Given the description of an element on the screen output the (x, y) to click on. 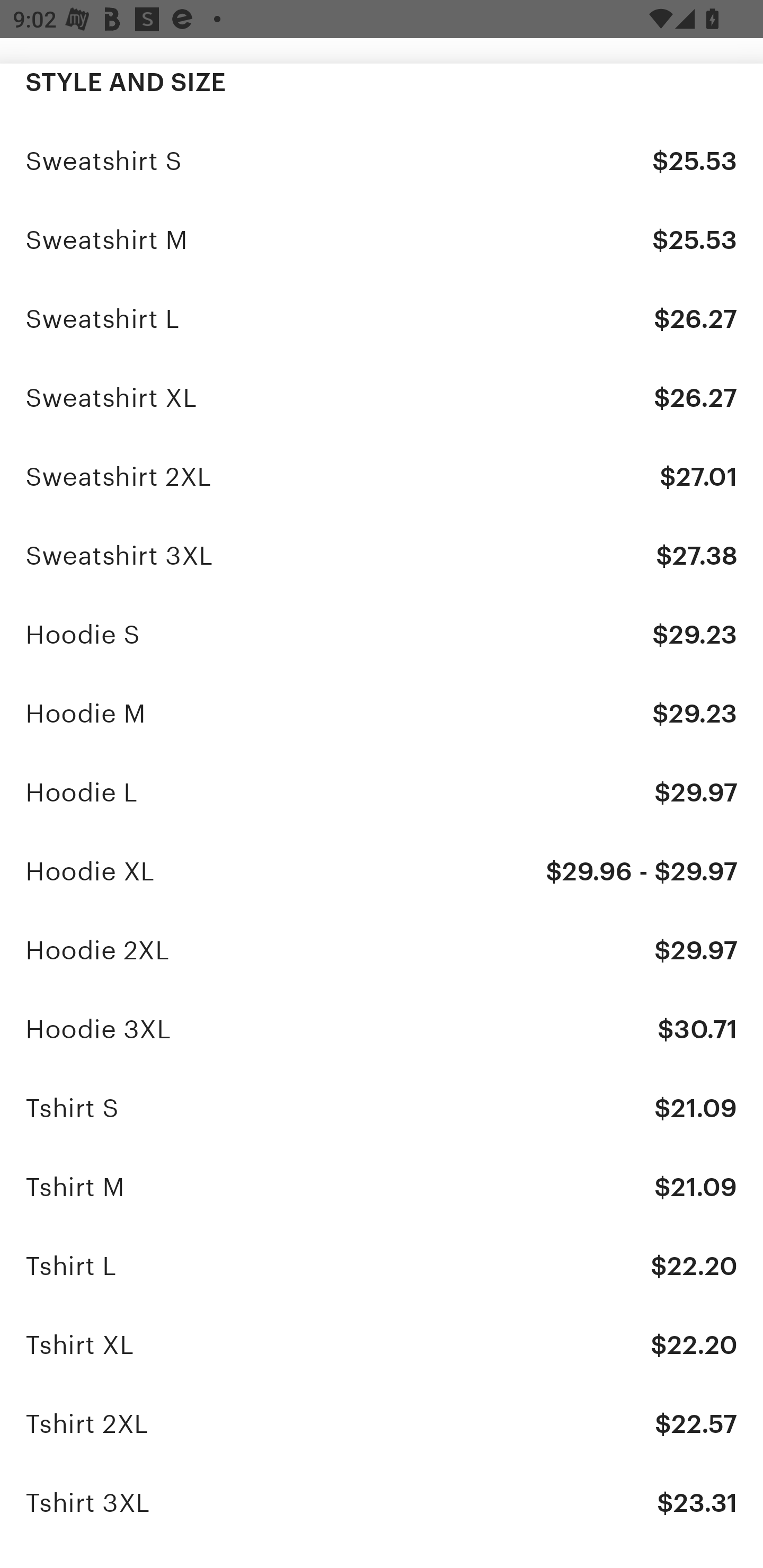
Sweatshirt S $25.53 (381, 161)
Sweatshirt M $25.53 (381, 239)
Sweatshirt L $26.27 (381, 319)
Sweatshirt XL $26.27 (381, 398)
Sweatshirt 2XL $27.01 (381, 476)
Sweatshirt 3XL $27.38 (381, 555)
Hoodie S $29.23 (381, 634)
Hoodie M $29.23 (381, 713)
Hoodie L $29.97 (381, 792)
Hoodie XL $29.96 - $29.97 (381, 871)
Hoodie 2XL $29.97 (381, 950)
Hoodie 3XL $30.71 (381, 1029)
Tshirt S $21.09 (381, 1108)
Tshirt M $21.09 (381, 1186)
Tshirt L $22.20 (381, 1266)
Tshirt XL $22.20 (381, 1345)
Tshirt 2XL $22.57 (381, 1423)
Tshirt 3XL $23.31 (381, 1502)
